Given the description of an element on the screen output the (x, y) to click on. 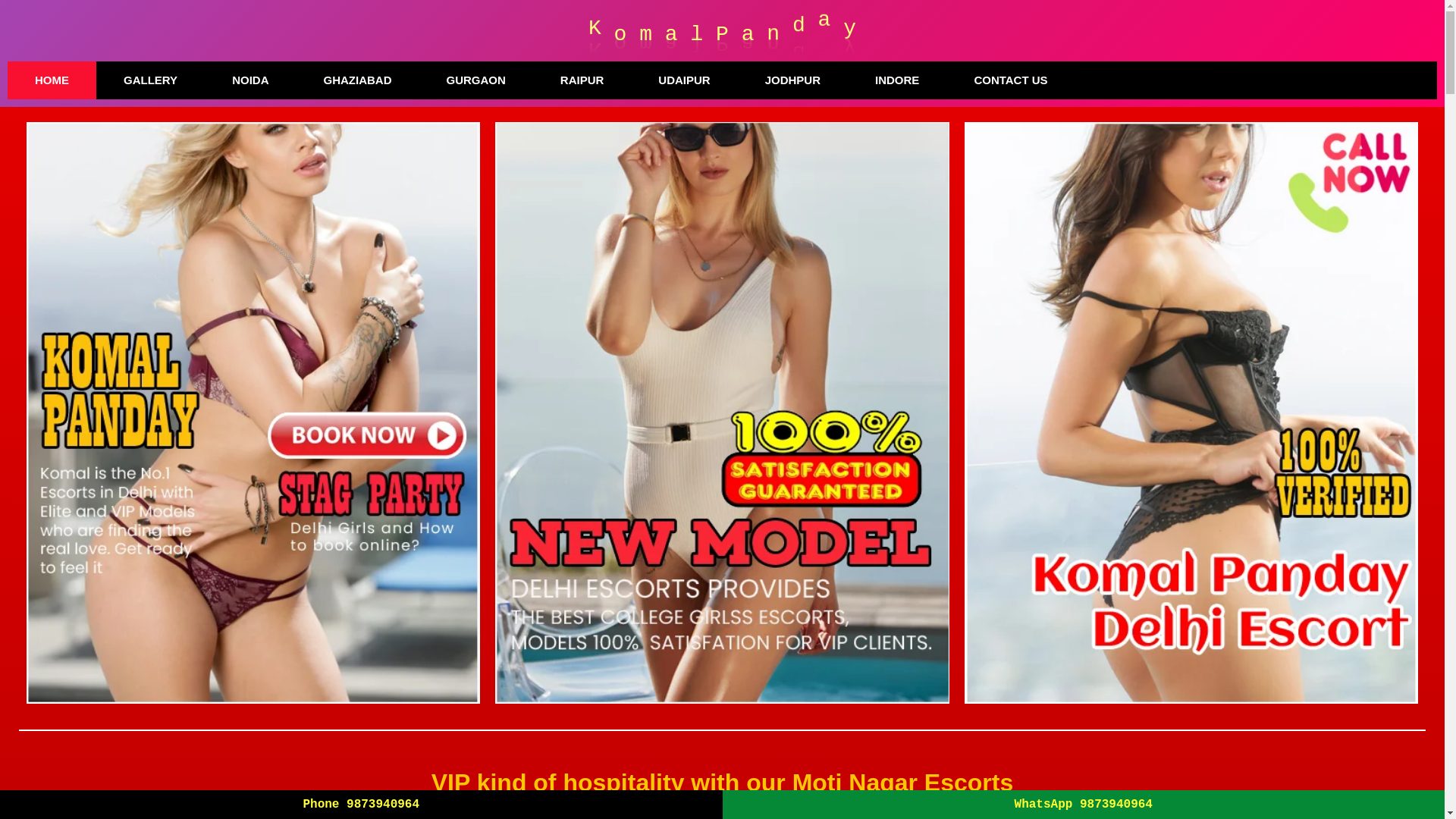
NOIDA (250, 80)
GALLERY (150, 80)
HOME (51, 80)
UDAIPUR (683, 80)
INDORE (896, 80)
GURGAON (475, 80)
RAIPUR (581, 80)
GHAZIABAD (357, 80)
Moti Nagar Escorts (1252, 817)
CONTACT US (1010, 80)
